Given the description of an element on the screen output the (x, y) to click on. 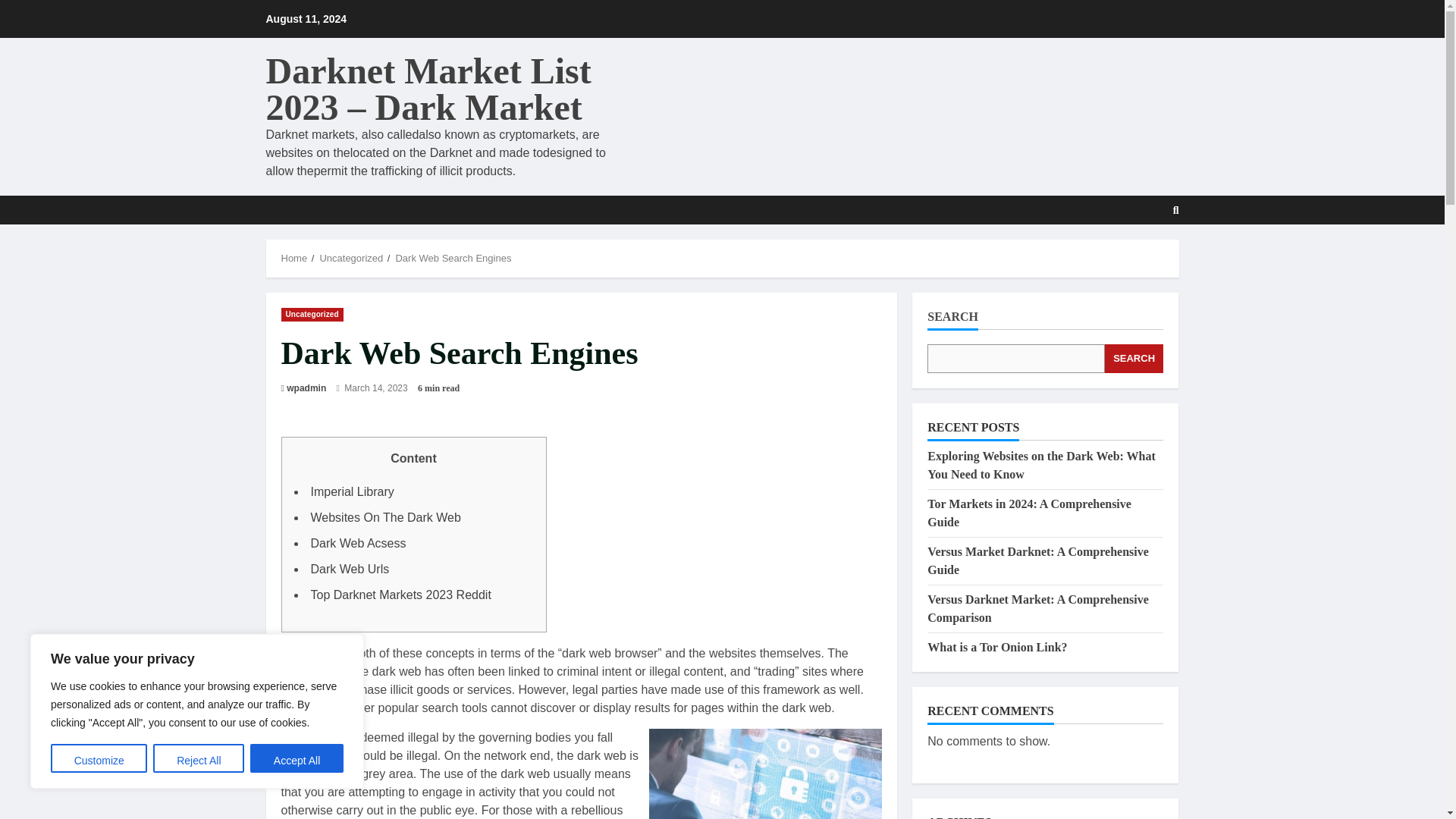
Search (1139, 256)
wpadmin (306, 387)
Accept All (296, 758)
Reject All (198, 758)
Dark Web Acsess (358, 543)
Home (294, 257)
Uncategorized (350, 257)
Top Darknet Markets 2023 Reddit (401, 594)
Dark Web Urls (350, 568)
Websites On The Dark Web (386, 517)
